Given the description of an element on the screen output the (x, y) to click on. 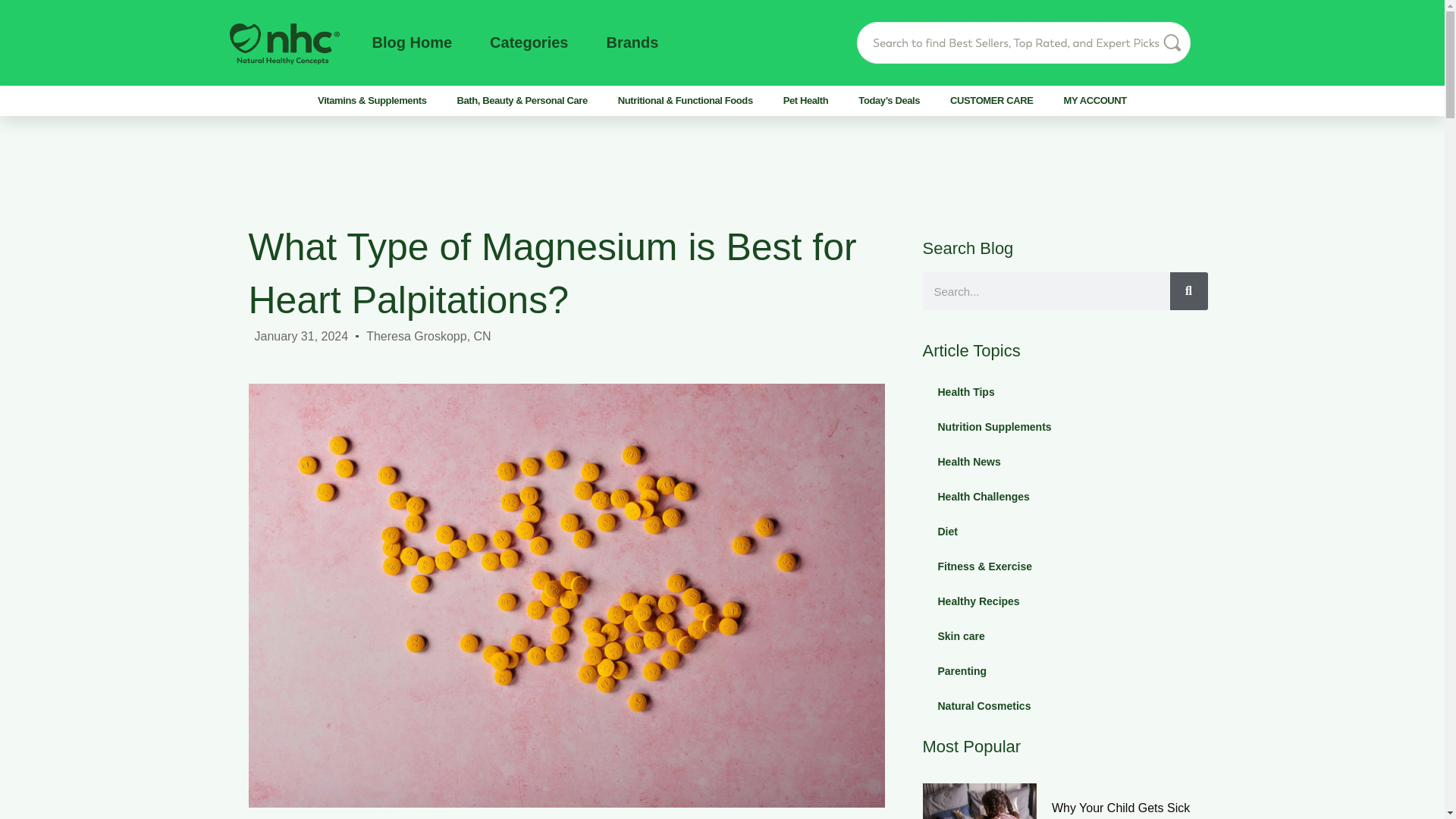
MY ACCOUNT (1094, 100)
Categories (528, 42)
Brands (631, 42)
CUSTOMER CARE (991, 100)
Pet Health (806, 100)
Blog Home (411, 42)
Theresa Groskopp, CN (429, 335)
January 31, 2024 (301, 335)
